Given the description of an element on the screen output the (x, y) to click on. 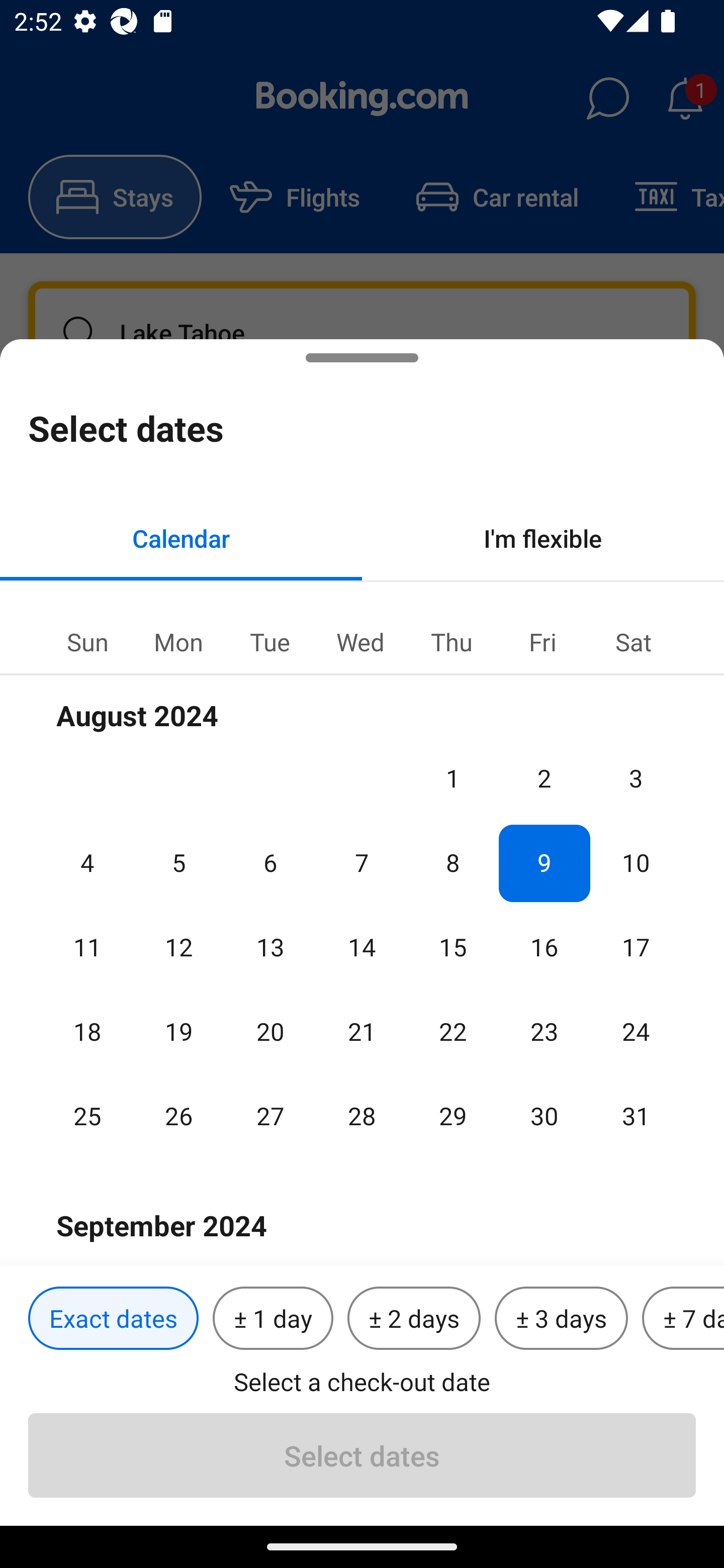
I'm flexible (543, 537)
Exact dates (113, 1318)
± 1 day (272, 1318)
± 2 days (413, 1318)
± 3 days (560, 1318)
± 7 days (683, 1318)
Select dates (361, 1454)
